Given the description of an element on the screen output the (x, y) to click on. 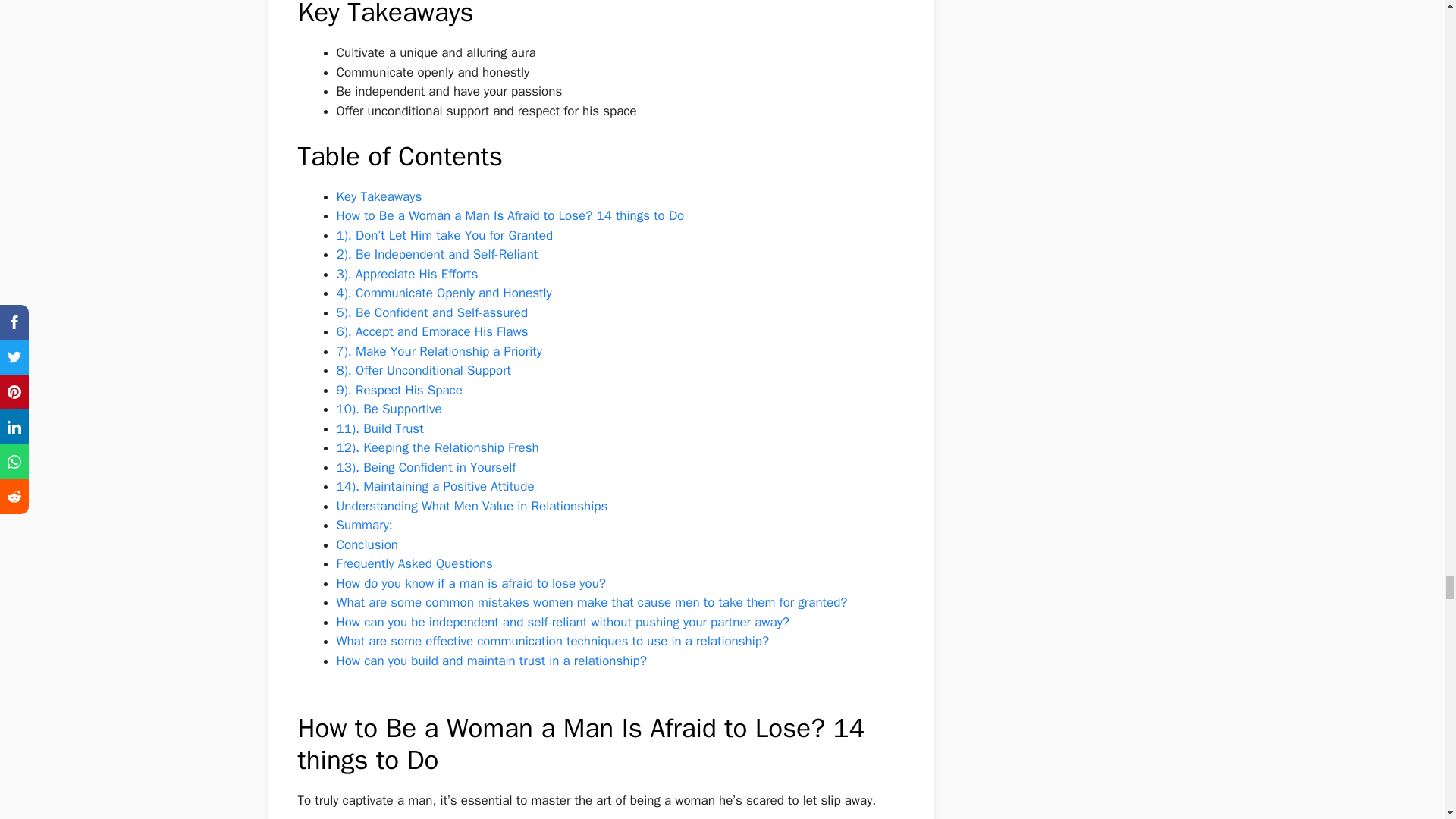
Conclusion (366, 544)
Frequently Asked Questions (414, 563)
How do you know if a man is afraid to lose you? (471, 583)
How to Be a Woman a Man Is Afraid to Lose? 14 things to Do (510, 215)
Summary: (364, 524)
Key Takeaways (379, 196)
Understanding What Men Value in Relationships (472, 505)
